Given the description of an element on the screen output the (x, y) to click on. 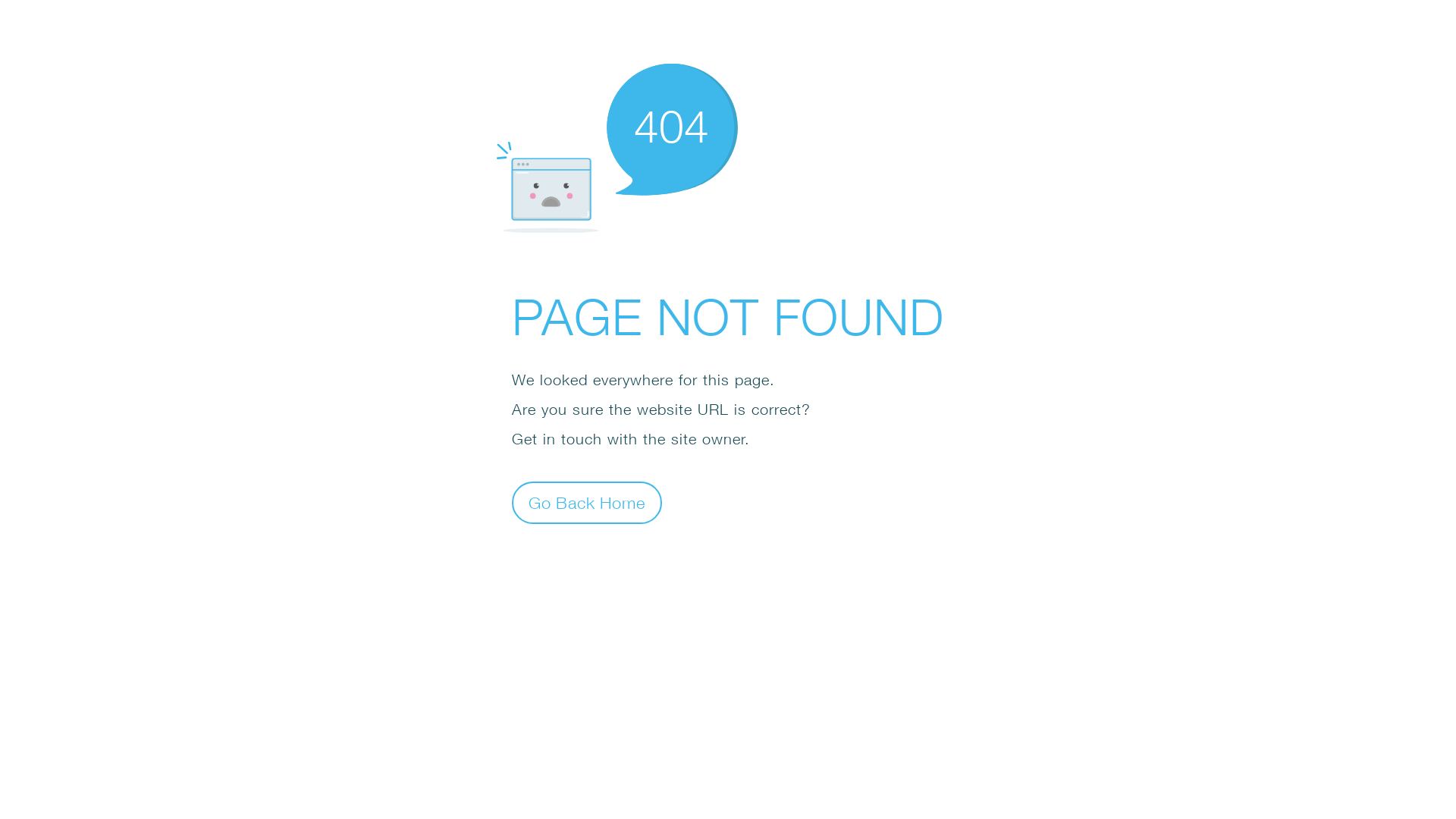
Go Back Home Element type: text (586, 502)
